Given the description of an element on the screen output the (x, y) to click on. 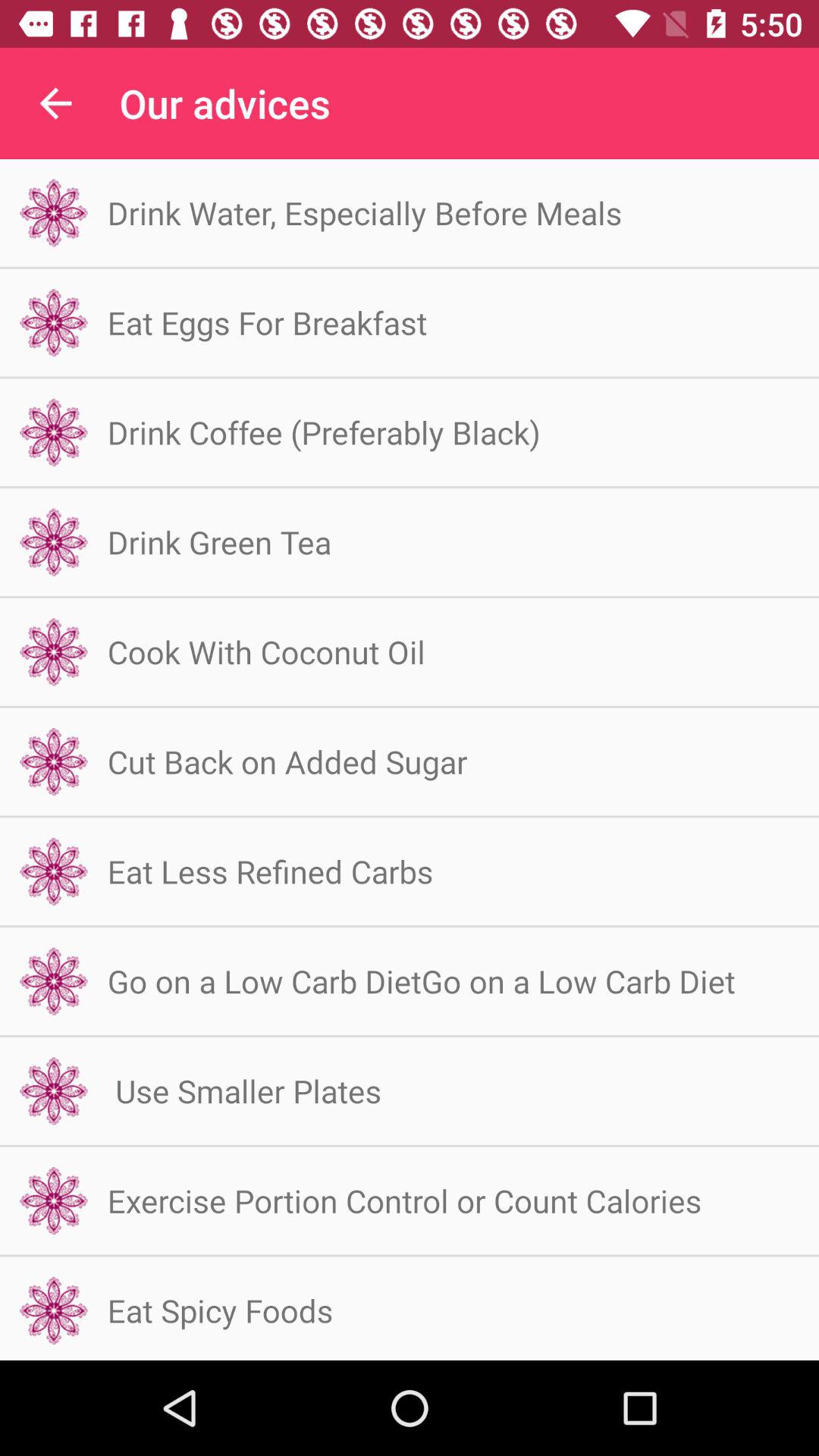
open the eat eggs for icon (267, 322)
